Given the description of an element on the screen output the (x, y) to click on. 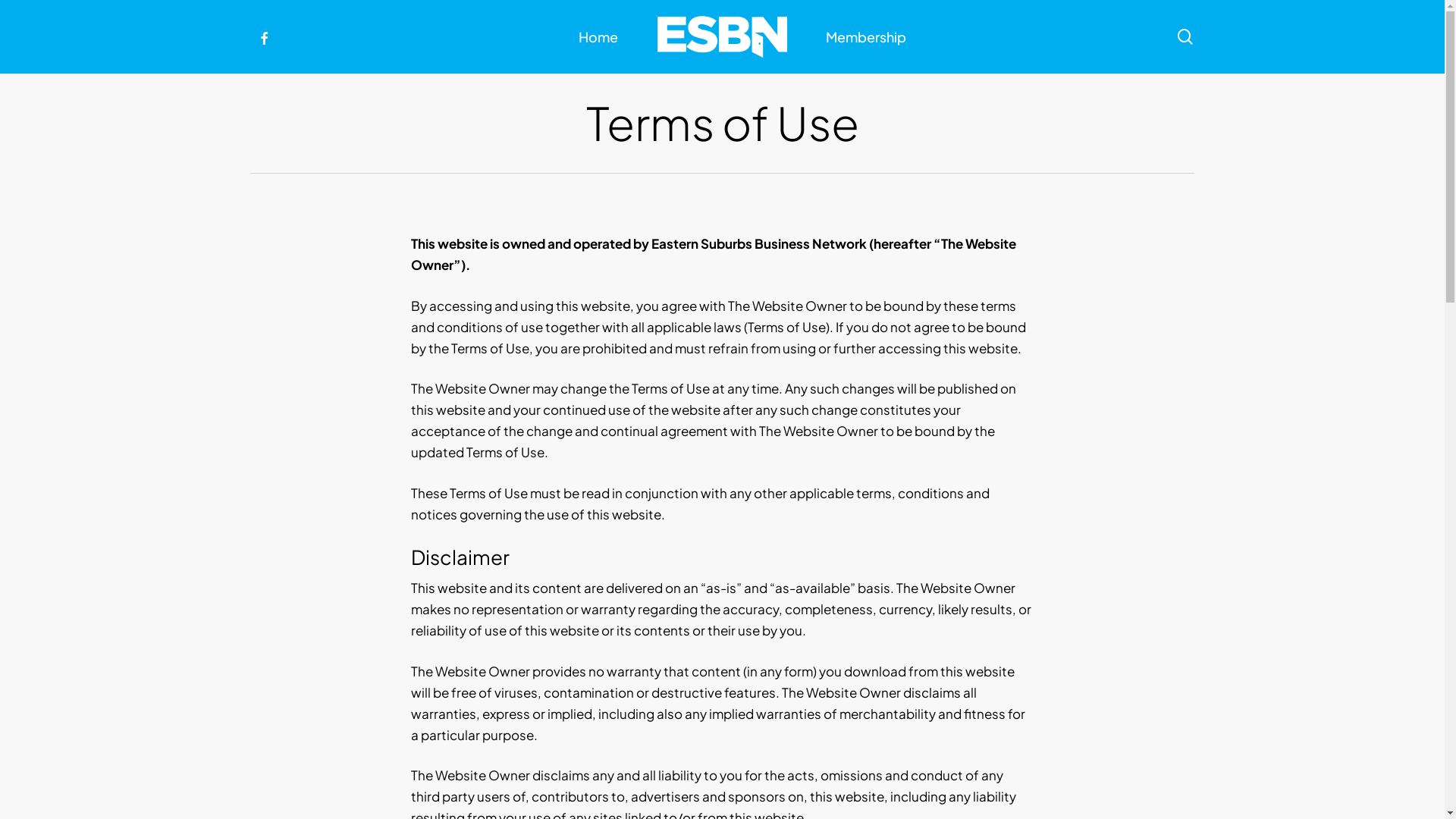
search Element type: text (1185, 36)
Membership Element type: text (865, 36)
Home Element type: text (598, 36)
Facebook Element type: text (263, 36)
